Given the description of an element on the screen output the (x, y) to click on. 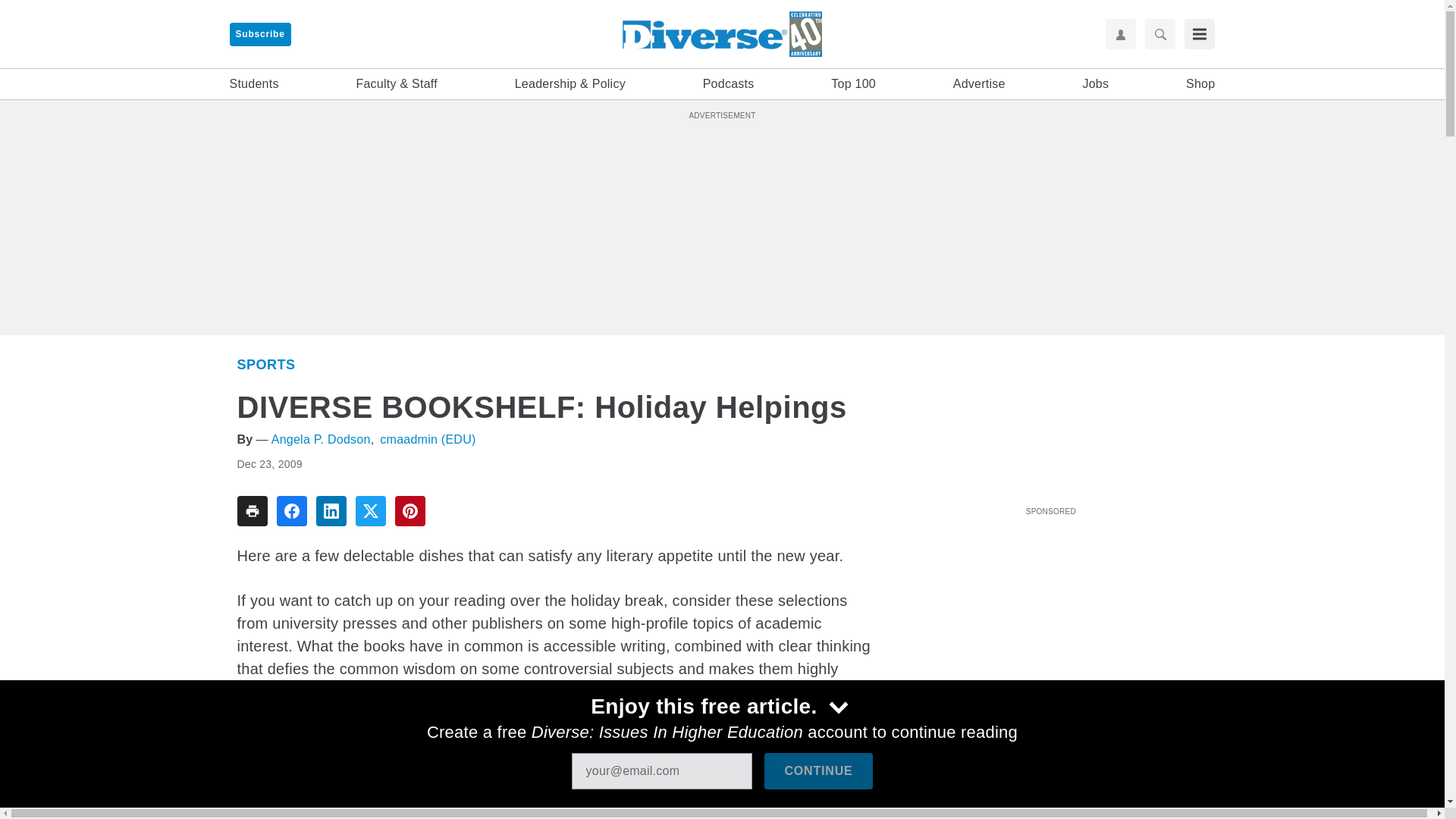
Shop (1200, 84)
Subscribe (258, 33)
Sports (265, 364)
Subscribe (258, 33)
Share To pinterest (409, 511)
Jobs (1094, 84)
Top 100 (853, 84)
Students (253, 84)
Share To print (250, 511)
Share To twitter (370, 511)
